Given the description of an element on the screen output the (x, y) to click on. 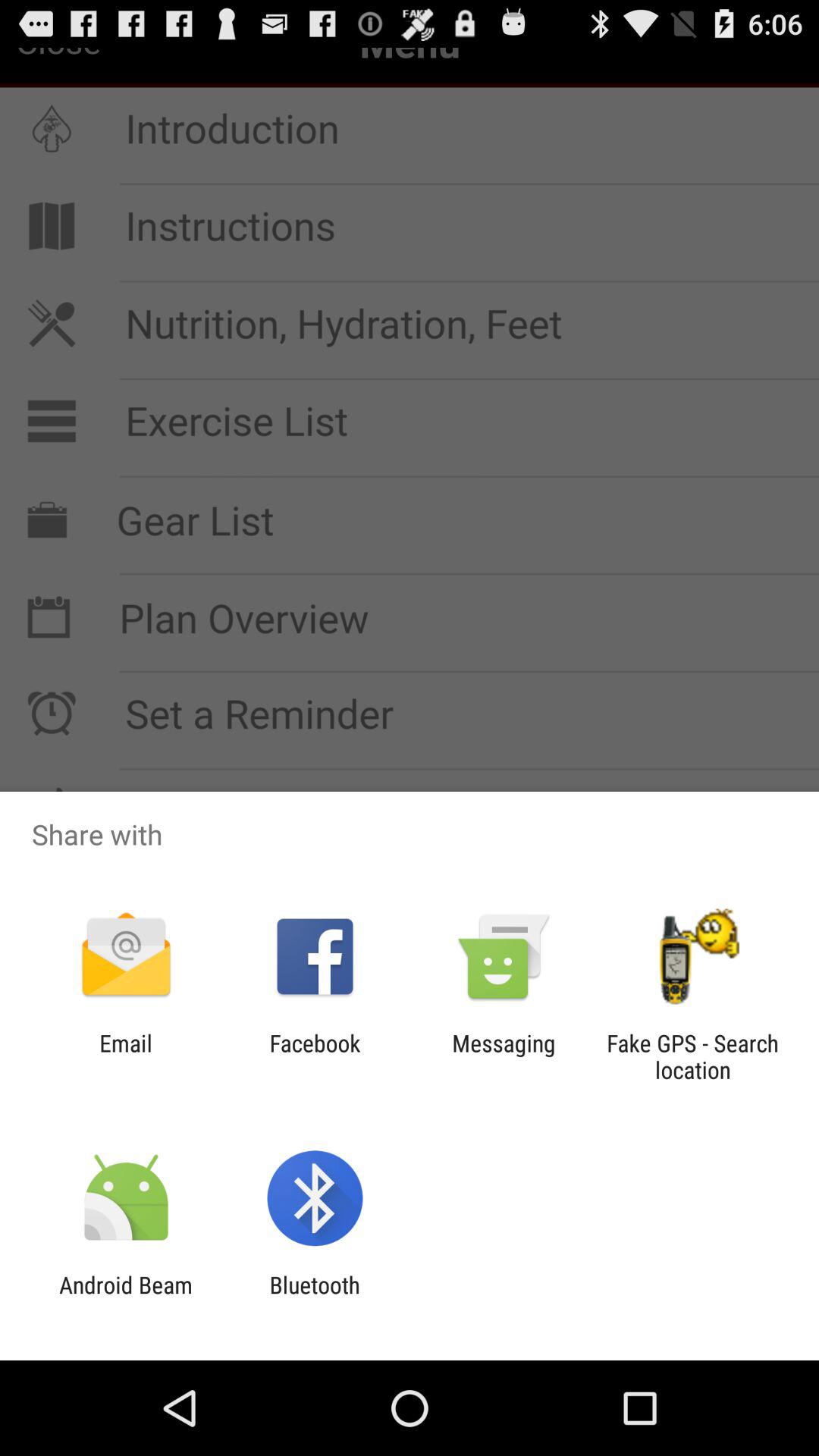
select the icon to the right of email icon (314, 1056)
